Given the description of an element on the screen output the (x, y) to click on. 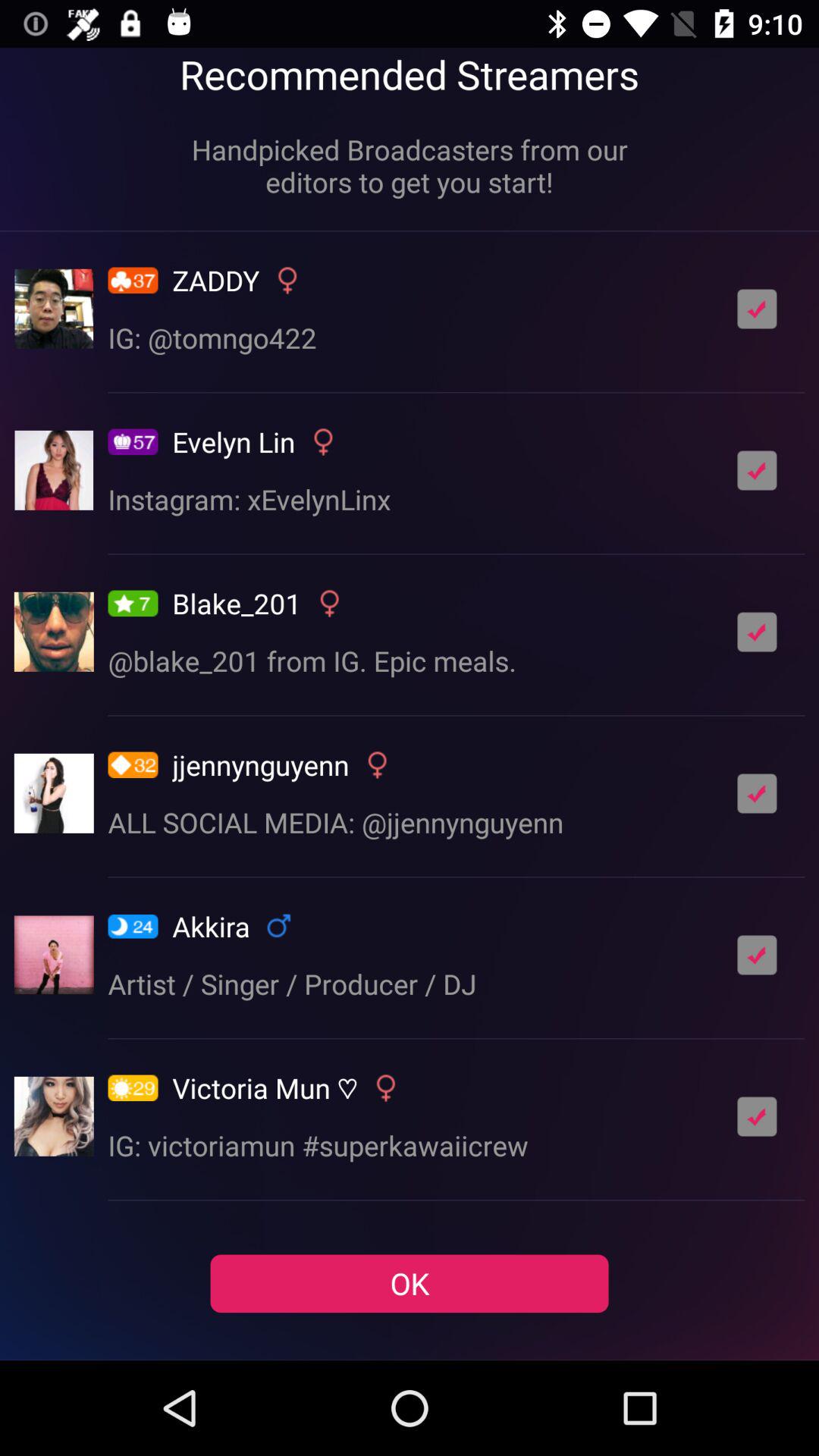
toggle streamer feed (756, 793)
